Given the description of an element on the screen output the (x, y) to click on. 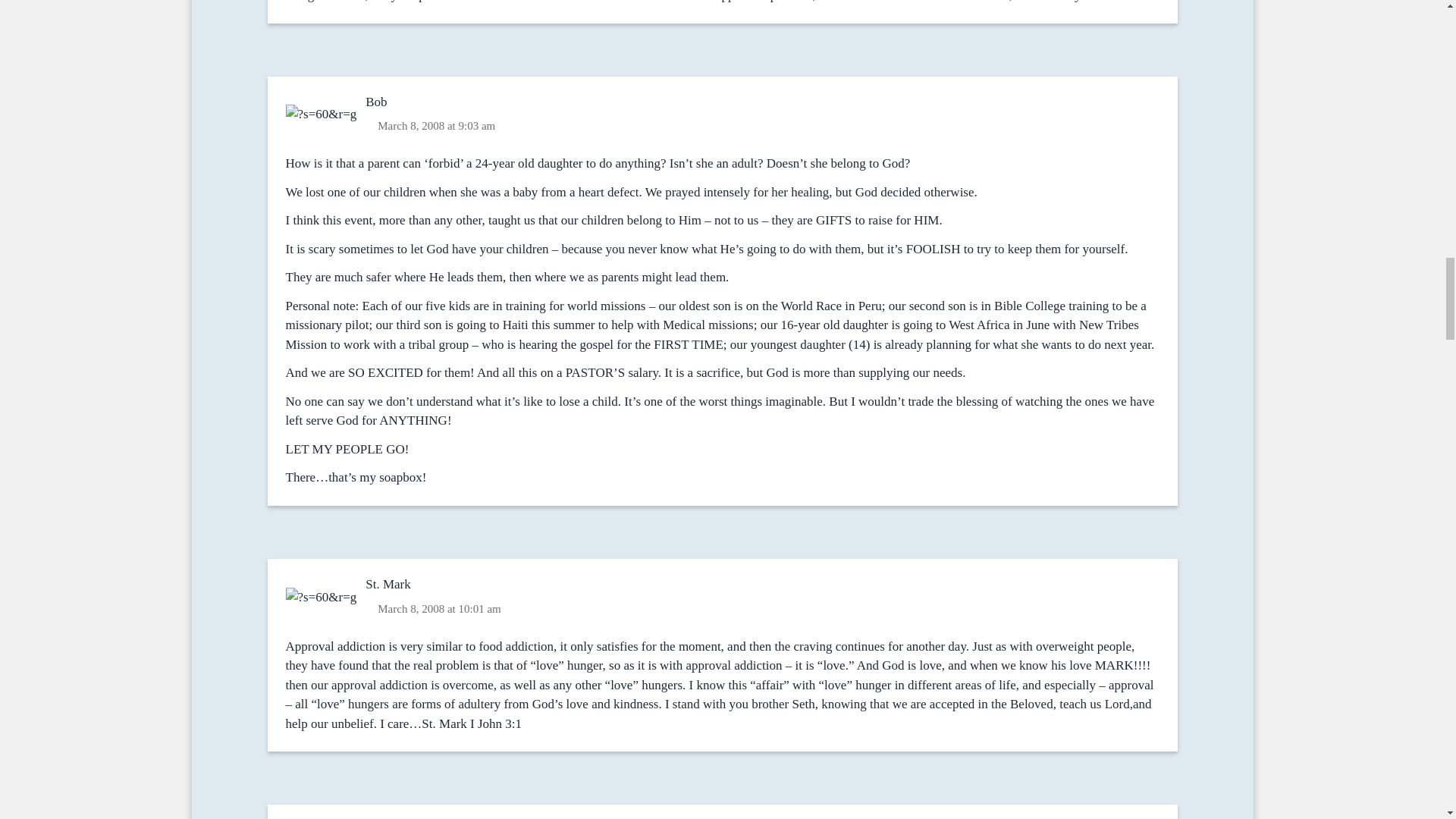
I care about the approval of men too much 3 (321, 113)
I care about the approval of men too much 3 (321, 596)
